Given the description of an element on the screen output the (x, y) to click on. 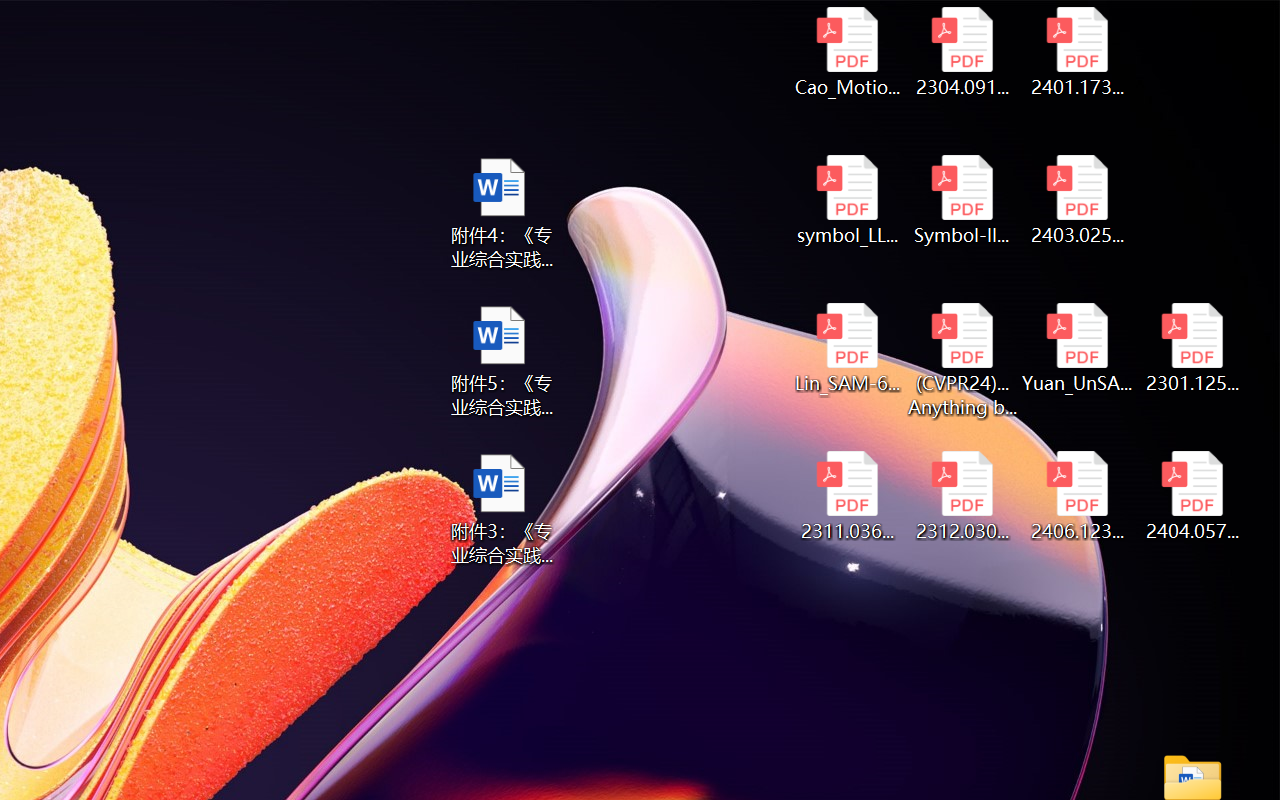
2401.17399v1.pdf (1077, 52)
2311.03658v2.pdf (846, 496)
2406.12373v2.pdf (1077, 496)
symbol_LLM.pdf (846, 200)
Symbol-llm-v2.pdf (962, 200)
2404.05719v1.pdf (1192, 496)
2312.03032v2.pdf (962, 496)
2304.09121v3.pdf (962, 52)
(CVPR24)Matching Anything by Segmenting Anything.pdf (962, 360)
2403.02502v1.pdf (1077, 200)
